Given the description of an element on the screen output the (x, y) to click on. 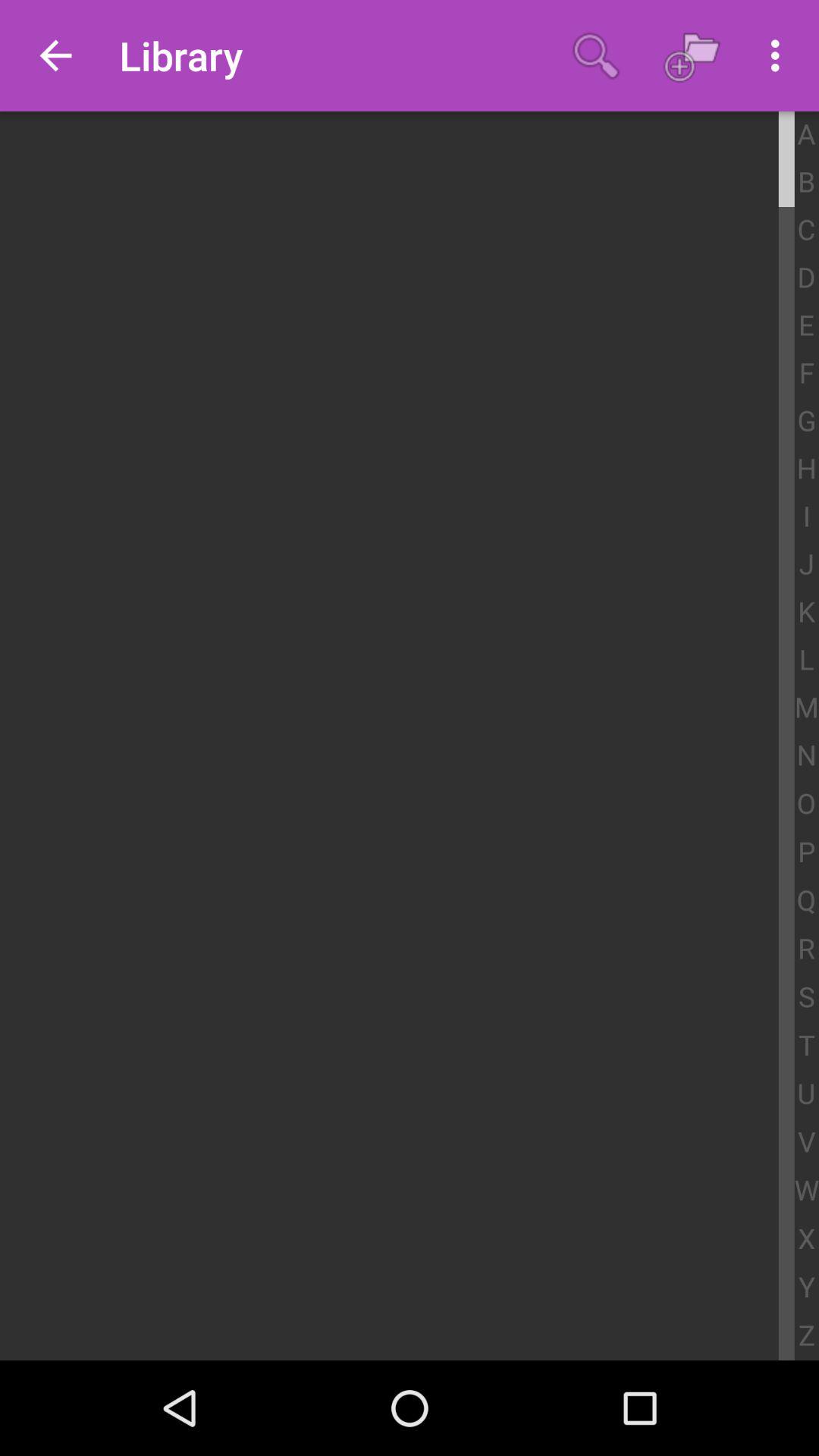
choose item below the g item (806, 469)
